Given the description of an element on the screen output the (x, y) to click on. 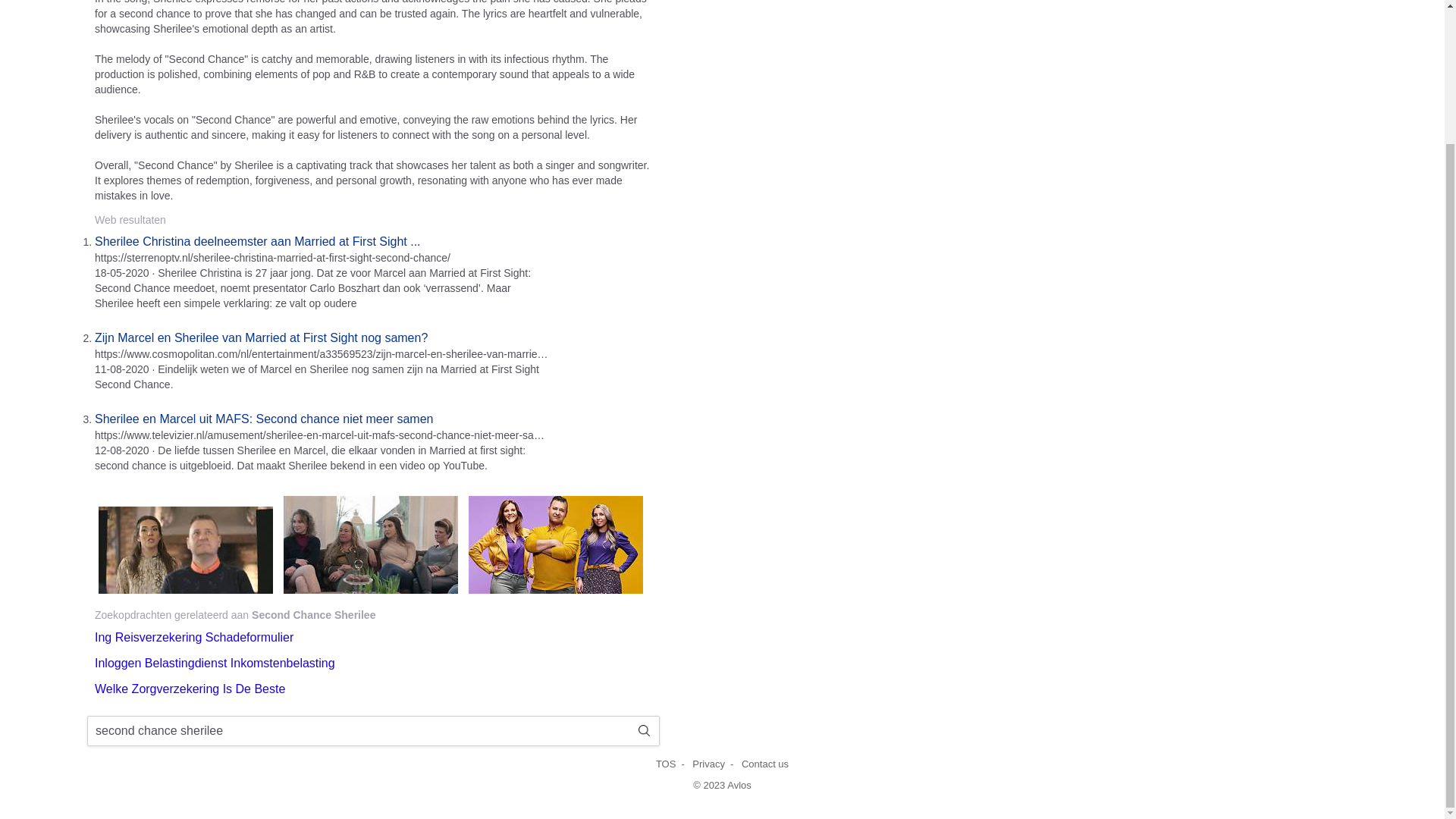
second chance sherilee (357, 730)
Contact us (765, 763)
TOS (666, 763)
inloggen belastingdienst inkomstenbelasting (214, 662)
welke zorgverzekering is de beste (189, 688)
Welke Zorgverzekering Is De Beste (189, 688)
Inloggen Belastingdienst Inkomstenbelasting (214, 662)
ing reisverzekering schadeformulier (194, 636)
Privacy (709, 763)
